Given the description of an element on the screen output the (x, y) to click on. 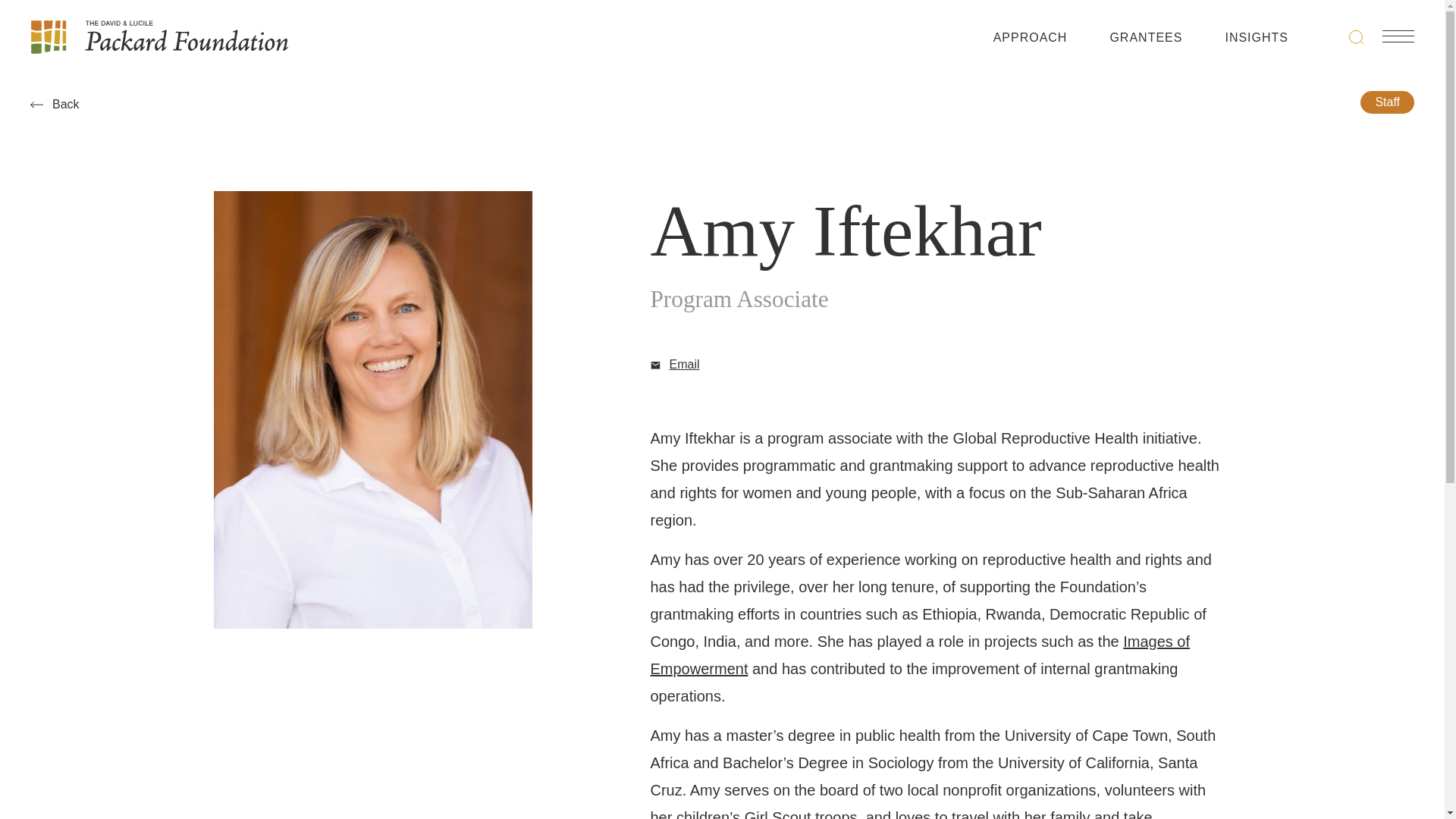
Back (55, 103)
GRANTEES (1145, 40)
INSIGHTS (1256, 40)
Email (675, 364)
APPROACH (1029, 40)
Search (1356, 36)
Navigation Toggle (1397, 36)
The David and Lucile Packard Foundation (159, 36)
Images of Empowerment (920, 655)
